Given the description of an element on the screen output the (x, y) to click on. 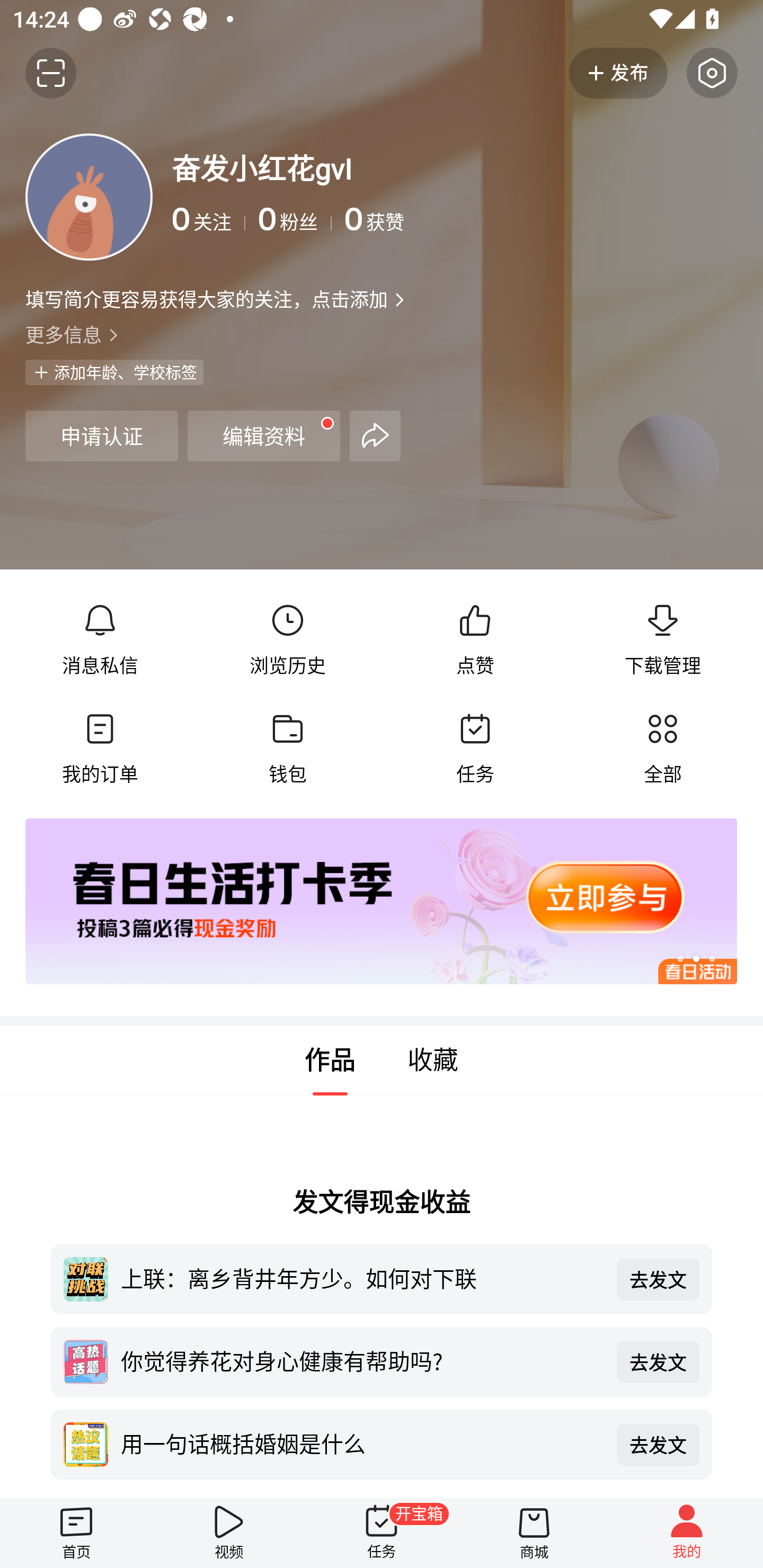
扫一扫 (50, 72)
发布 (618, 72)
设置 (711, 72)
头像 (88, 196)
0 关注 (208, 219)
0 粉丝 (294, 219)
0 获赞 (540, 219)
填写简介更容易获得大家的关注，点击添加 (206, 298)
更多信息 (381, 333)
添加年龄、学校标签 (114, 372)
申请认证 (101, 435)
编辑资料 (263, 435)
分享 (374, 435)
消息私信 (99, 639)
浏览历史 (287, 639)
点赞 (475, 639)
下载管理 (662, 639)
我的订单 (99, 748)
钱包 (287, 748)
任务 (475, 748)
全部 (662, 748)
图片链接 (368, 901)
作品 (329, 1060)
收藏 (432, 1060)
上联：离乡背井年方少。如何对下联 (362, 1278)
去发文 (657, 1279)
你觉得养花对身心健康有帮助吗? (362, 1360)
去发文 (657, 1361)
用一句话概括婚姻是什么 (362, 1443)
去发文 (657, 1444)
首页 (76, 1532)
视频 (228, 1532)
任务 开宝箱 (381, 1532)
商城 (533, 1532)
我的 (686, 1532)
